Given the description of an element on the screen output the (x, y) to click on. 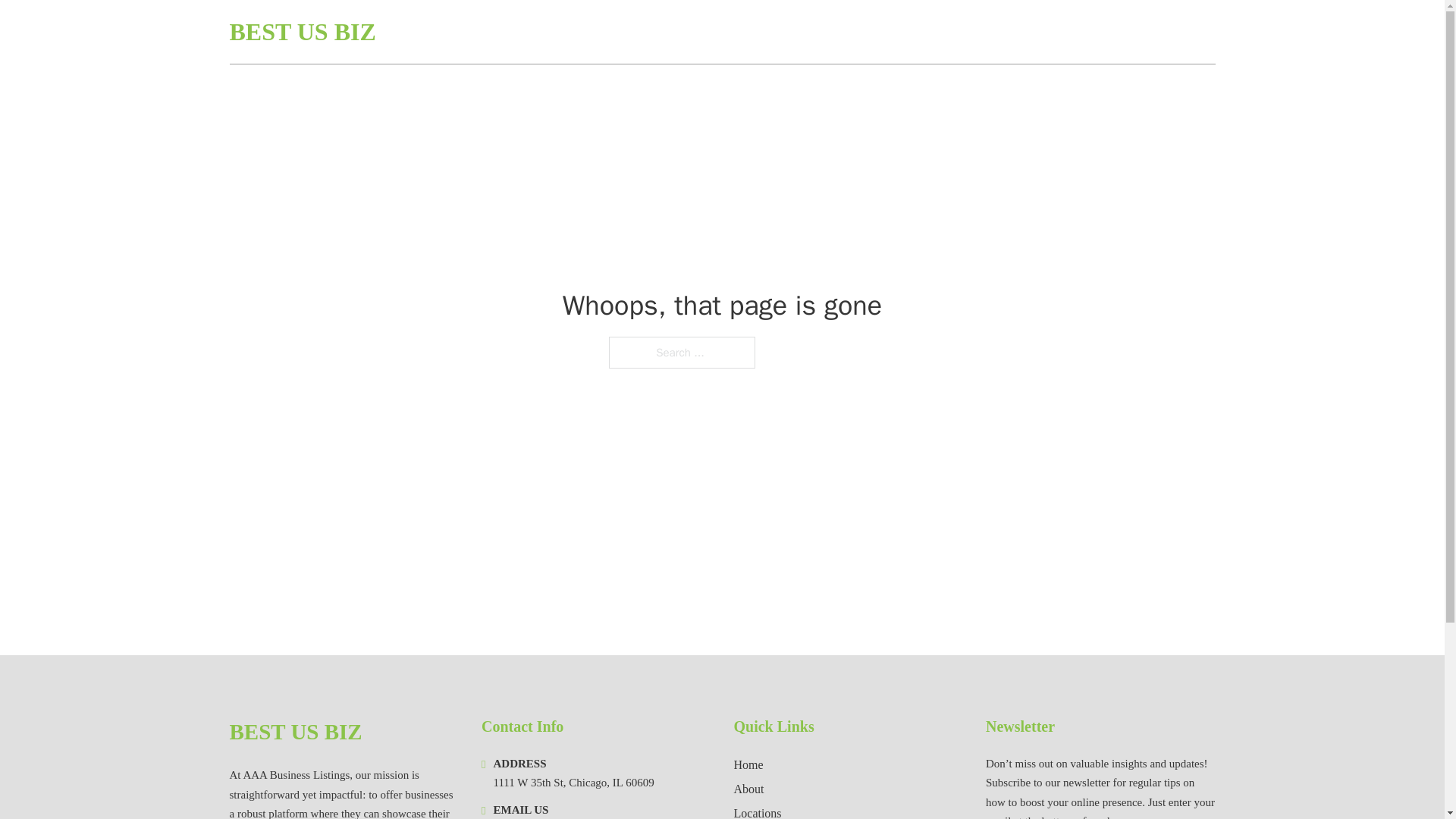
Home (747, 764)
LOCATIONS (1105, 31)
HOME (1032, 31)
About (748, 788)
Locations (757, 811)
BEST US BIZ (301, 31)
BEST US BIZ (294, 732)
